Given the description of an element on the screen output the (x, y) to click on. 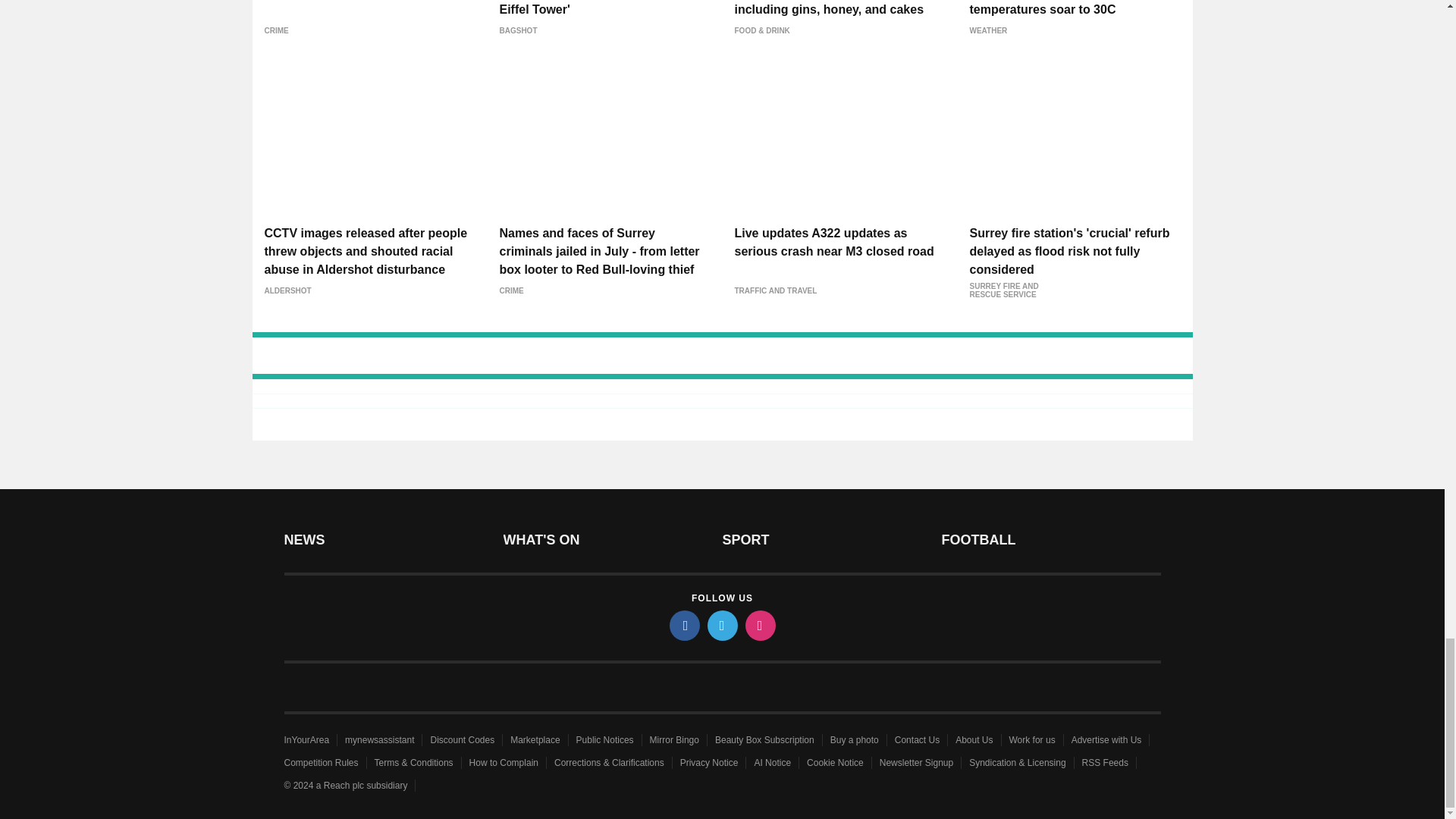
twitter (721, 625)
instagram (759, 625)
facebook (683, 625)
